Given the description of an element on the screen output the (x, y) to click on. 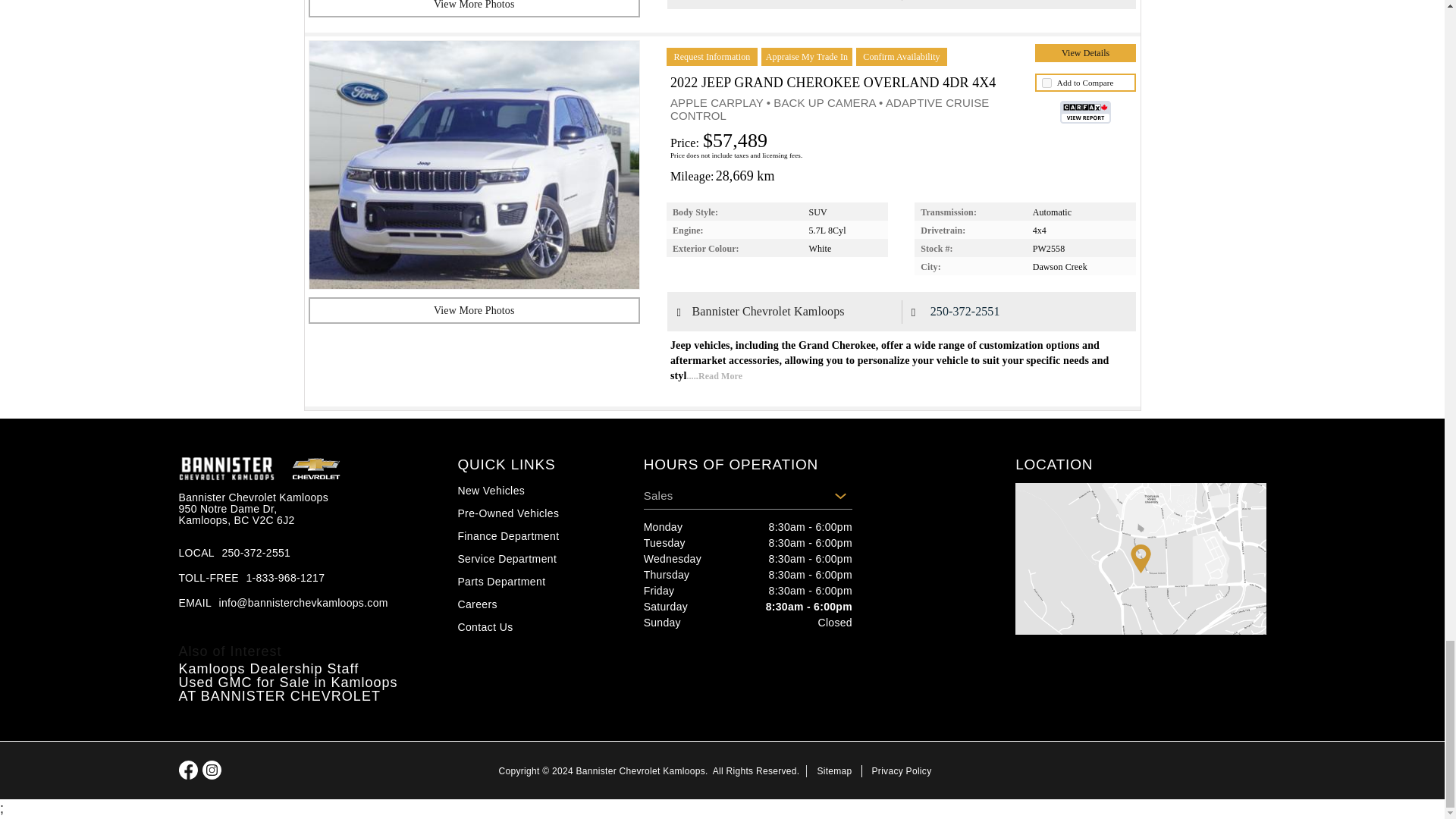
unchecked (1046, 82)
